Given the description of an element on the screen output the (x, y) to click on. 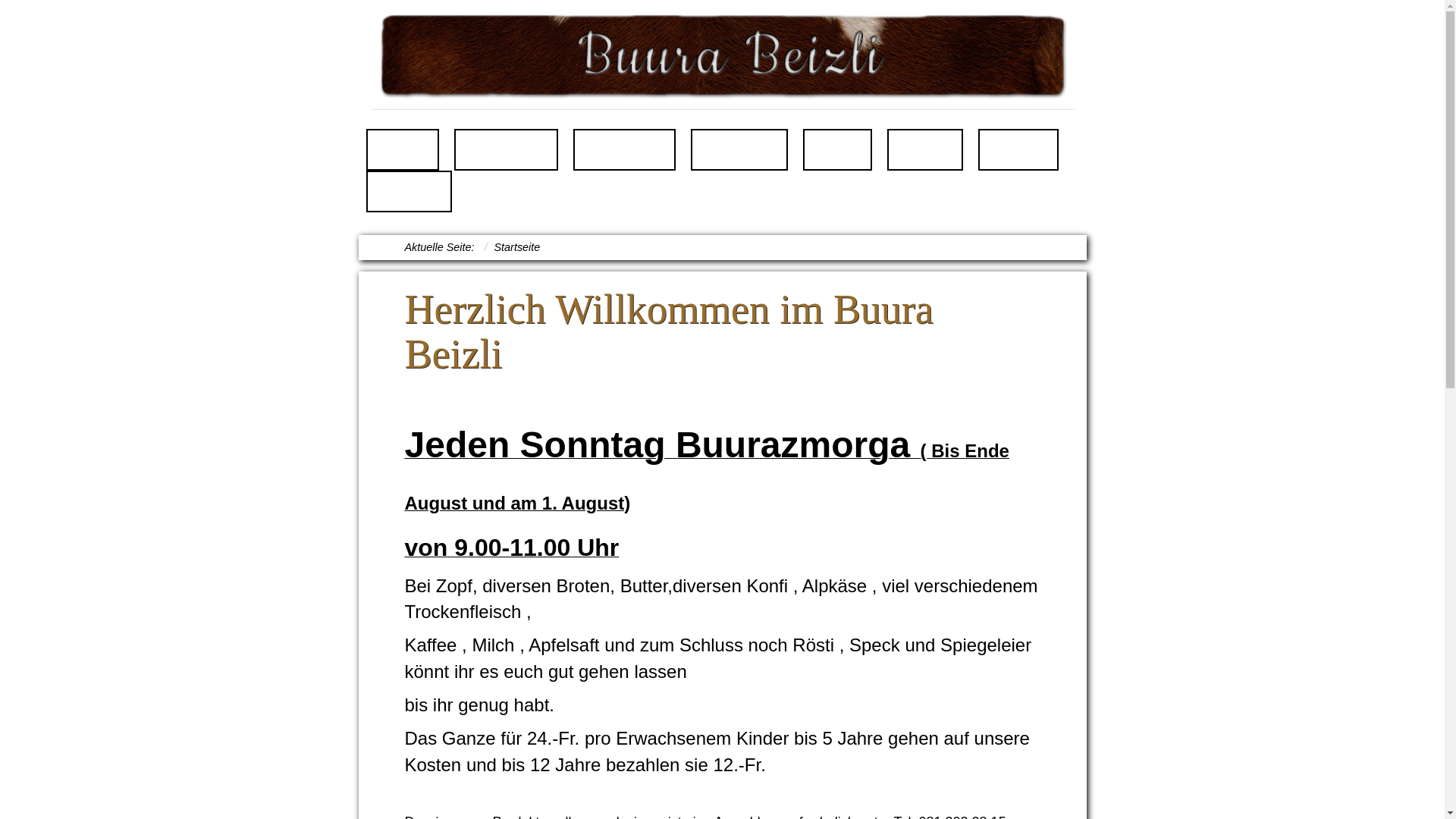
Restaurant Element type: text (505, 149)
Angebote Element type: text (738, 149)
Bauernhof Element type: text (624, 149)
Home Element type: text (402, 149)
Team Element type: text (837, 149)
Kontakt Element type: text (408, 191)
